Given the description of an element on the screen output the (x, y) to click on. 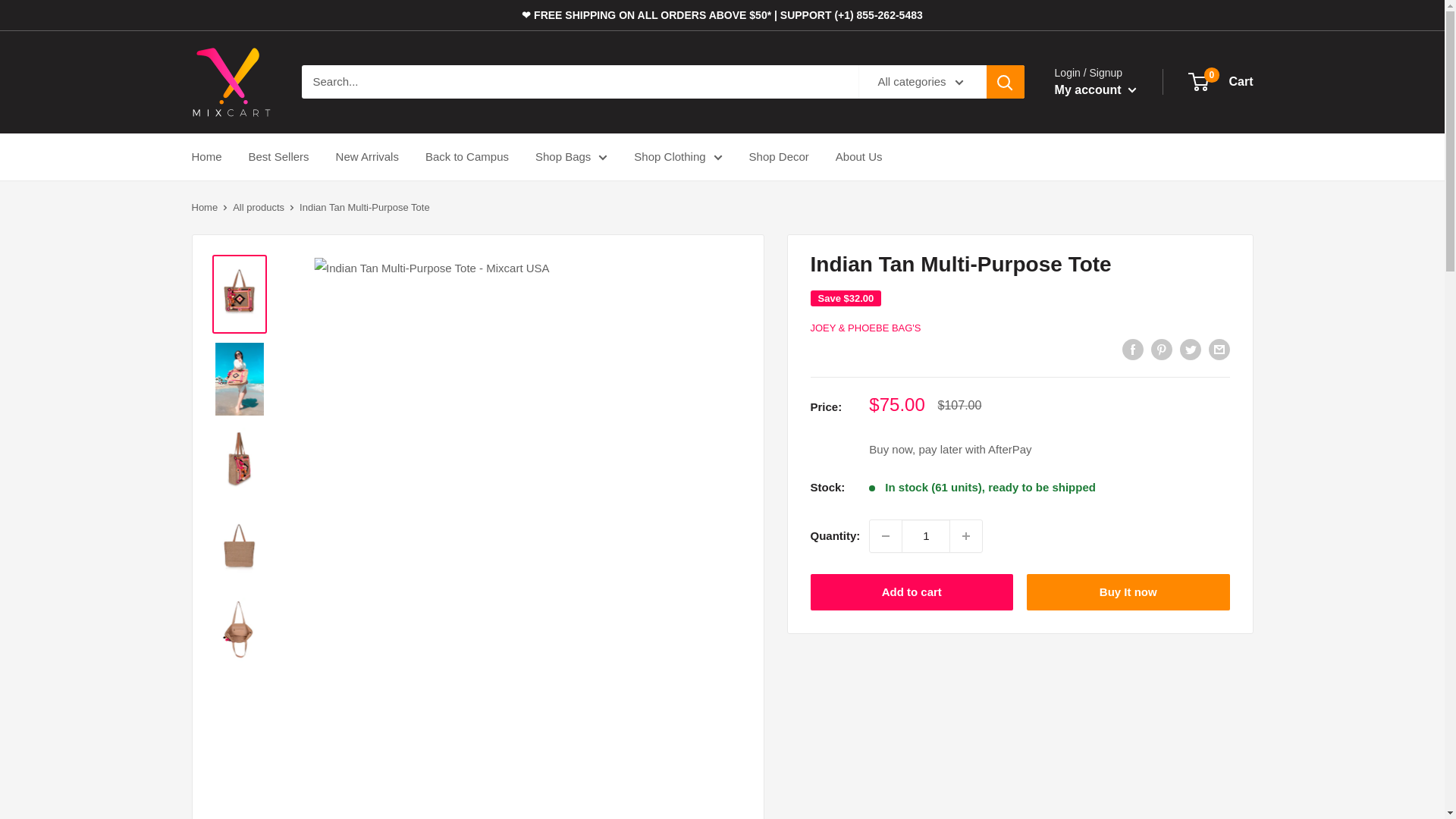
1 (925, 536)
Decrease quantity by 1 (885, 536)
Mixcart USA (230, 81)
My account (1095, 89)
Increase quantity by 1 (965, 536)
